Given the description of an element on the screen output the (x, y) to click on. 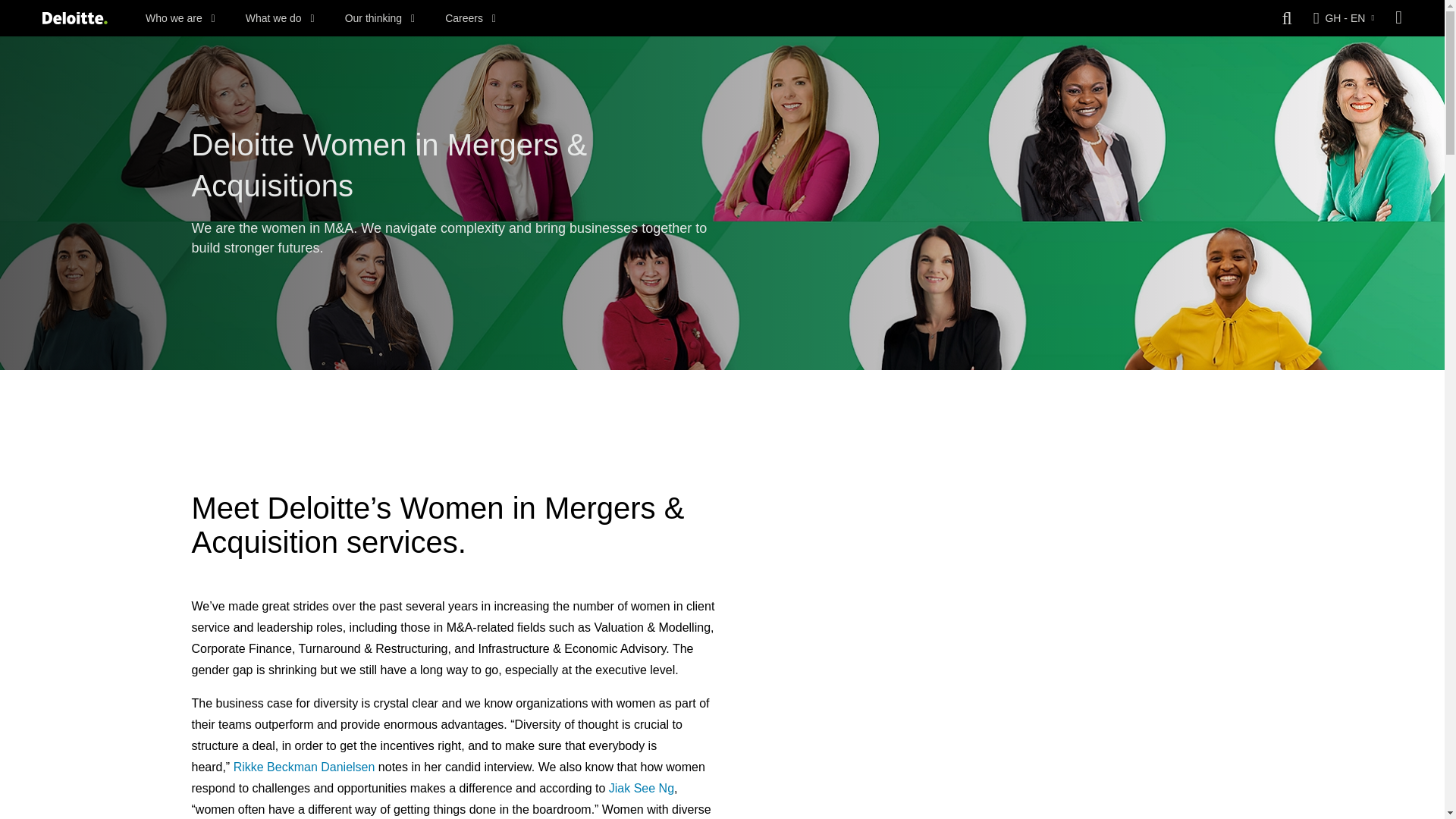
Careers (470, 18)
Deloitte (74, 18)
Who we are (180, 18)
Our thinking (379, 18)
What we do (280, 18)
